Given the description of an element on the screen output the (x, y) to click on. 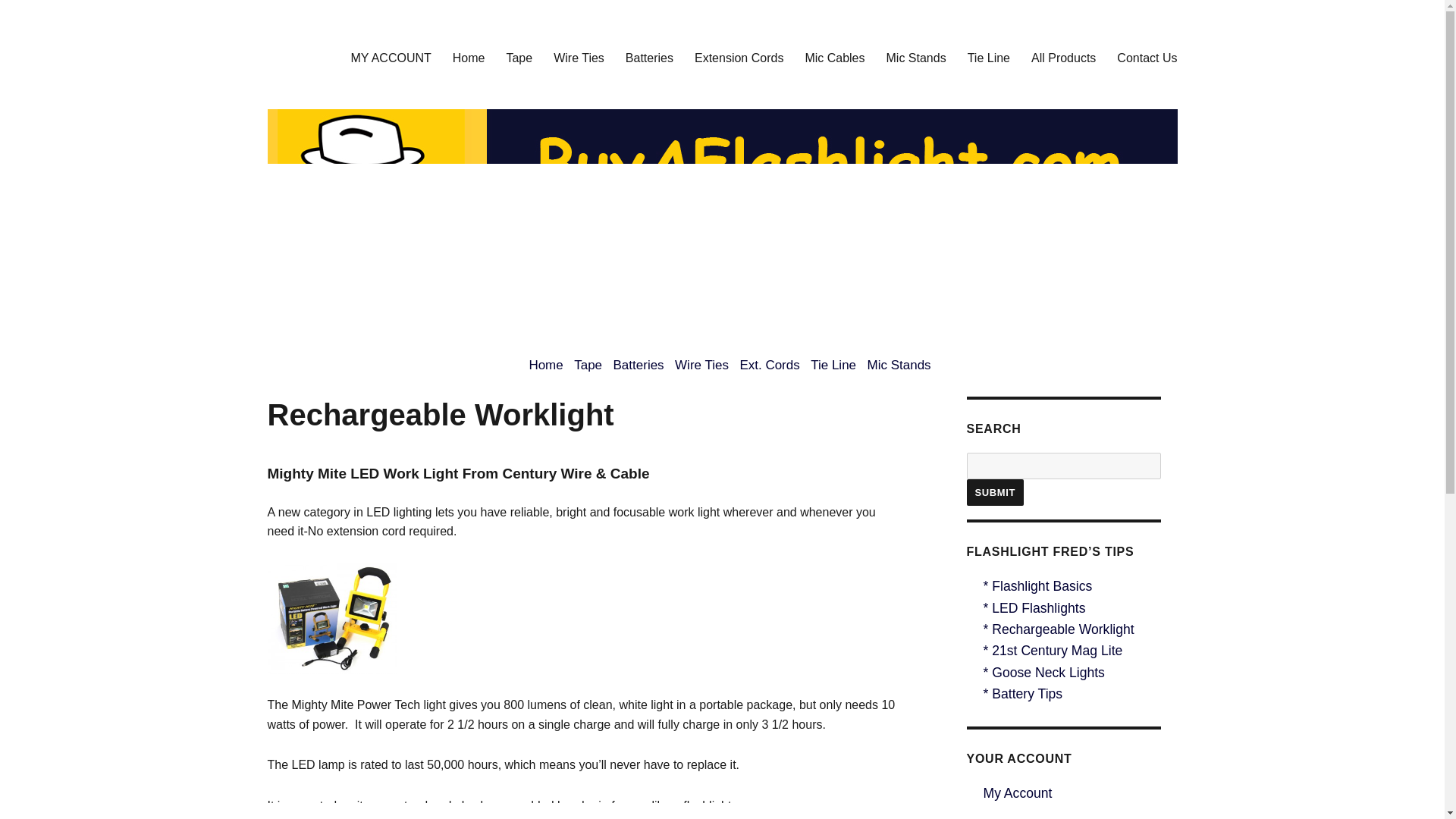
My Account (1016, 792)
Extension Cords (738, 57)
All Products (1063, 57)
Mic Stands (916, 57)
Tape (587, 364)
Wire Ties (578, 57)
Batteries (649, 57)
Tie Line (833, 364)
Mic Cables (834, 57)
Home (469, 57)
